Given the description of an element on the screen output the (x, y) to click on. 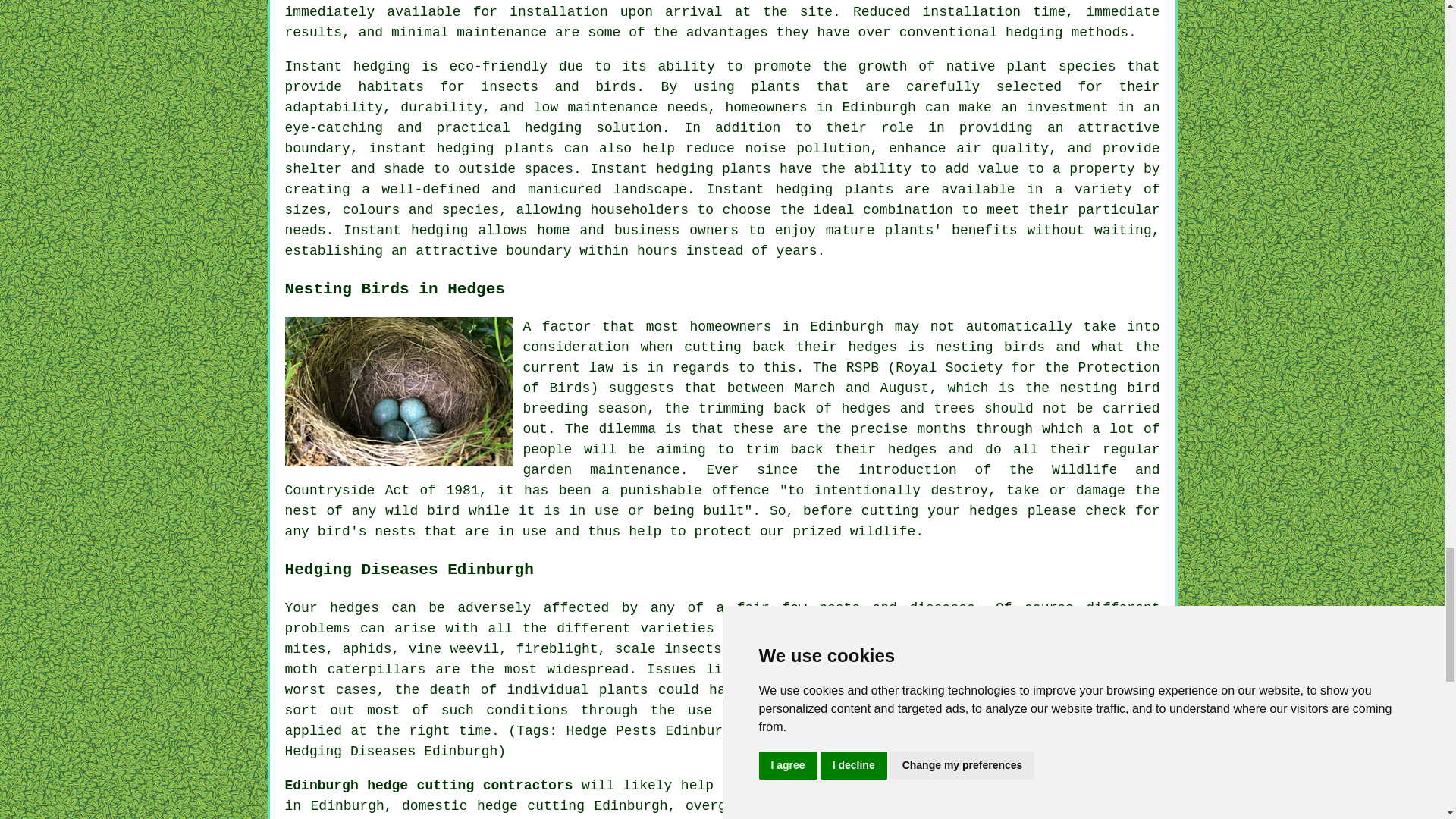
garden maintenance (600, 469)
domestic hedge cutting (493, 806)
Bird's Nesting in Hedges Edinburgh (398, 391)
